Given the description of an element on the screen output the (x, y) to click on. 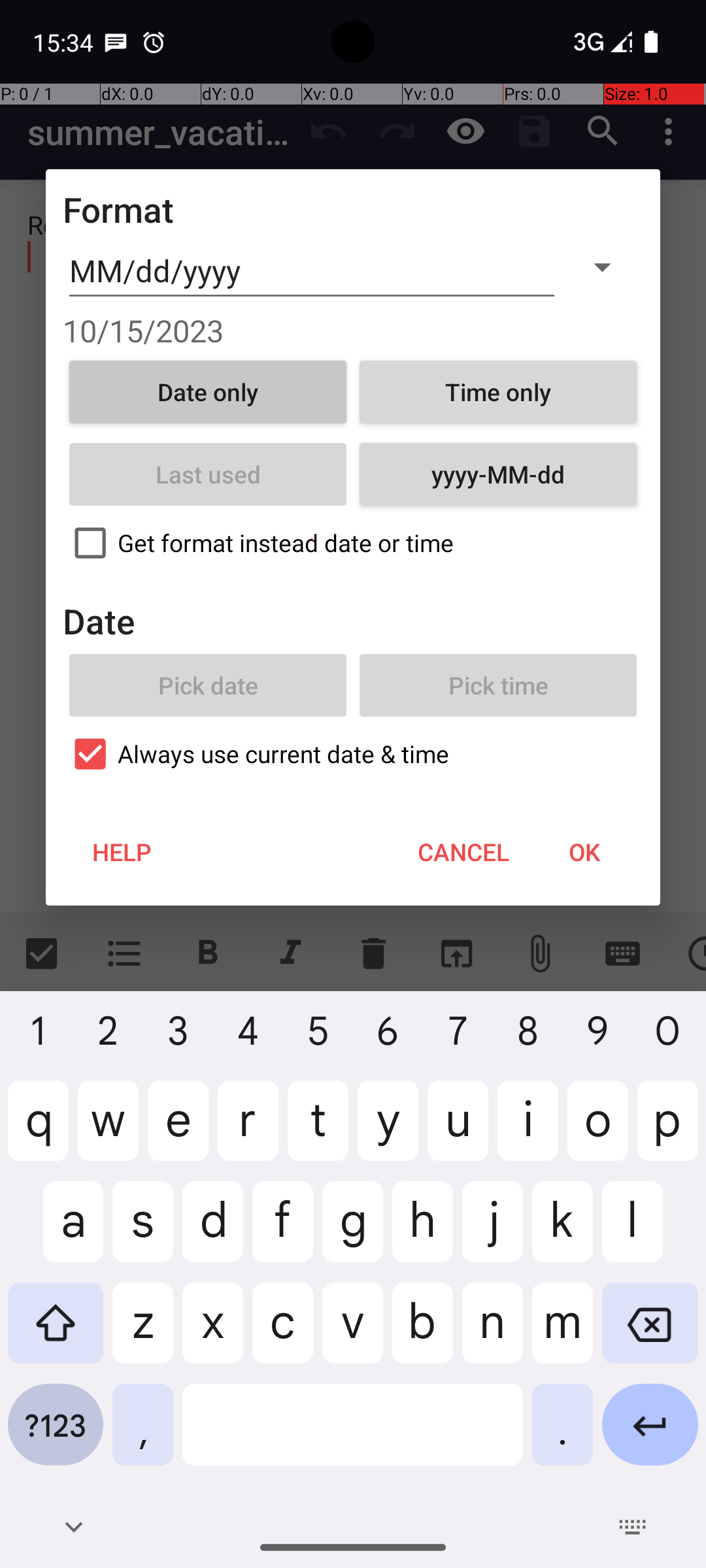
MM/dd/yyyy Element type: android.widget.EditText (311, 270)
10/15/2023 Element type: android.widget.TextView (352, 329)
